Given the description of an element on the screen output the (x, y) to click on. 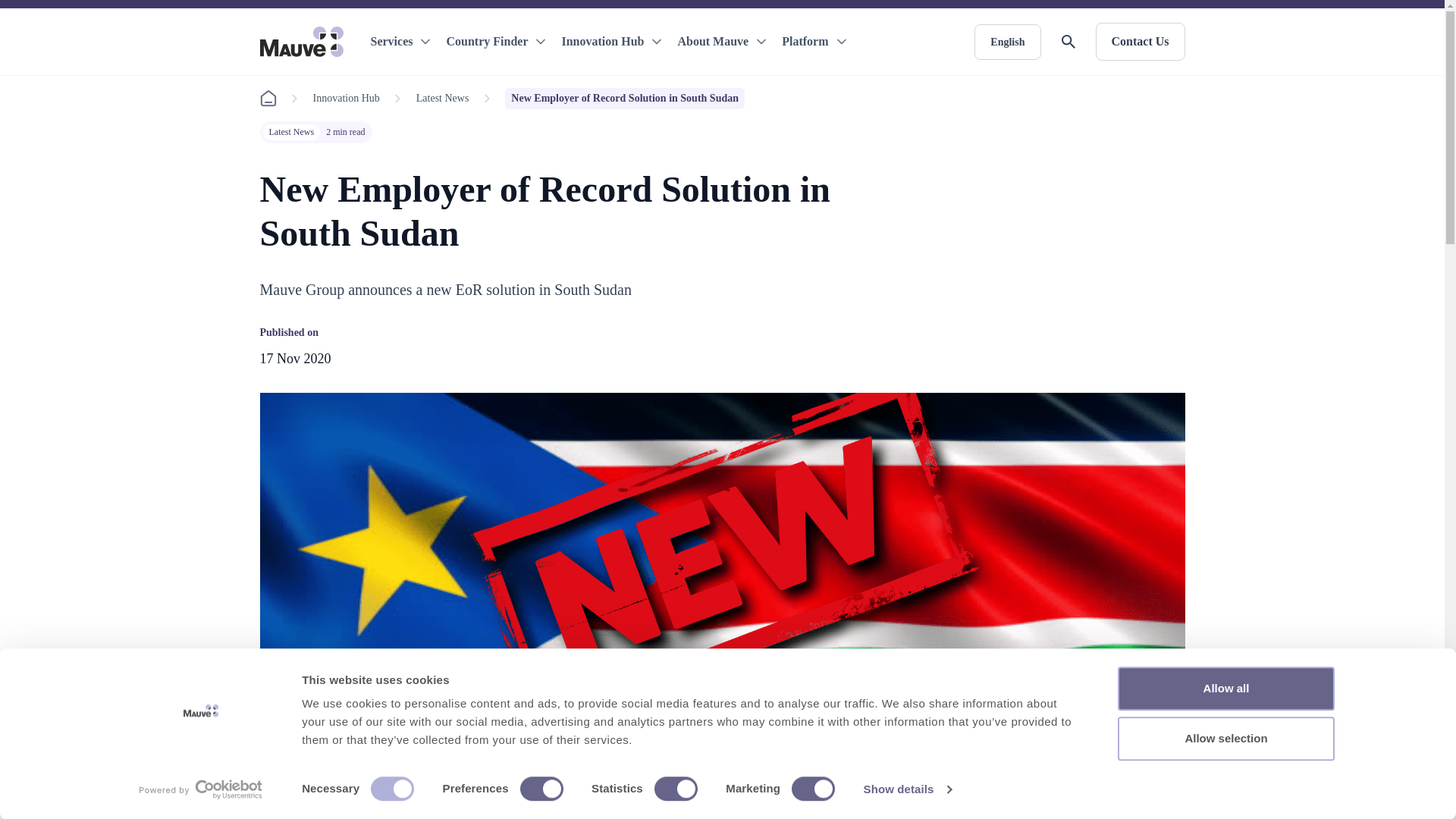
Tuesday 17 November 2020 at 09:19:07 GMT (294, 358)
Show details (907, 789)
